Given the description of an element on the screen output the (x, y) to click on. 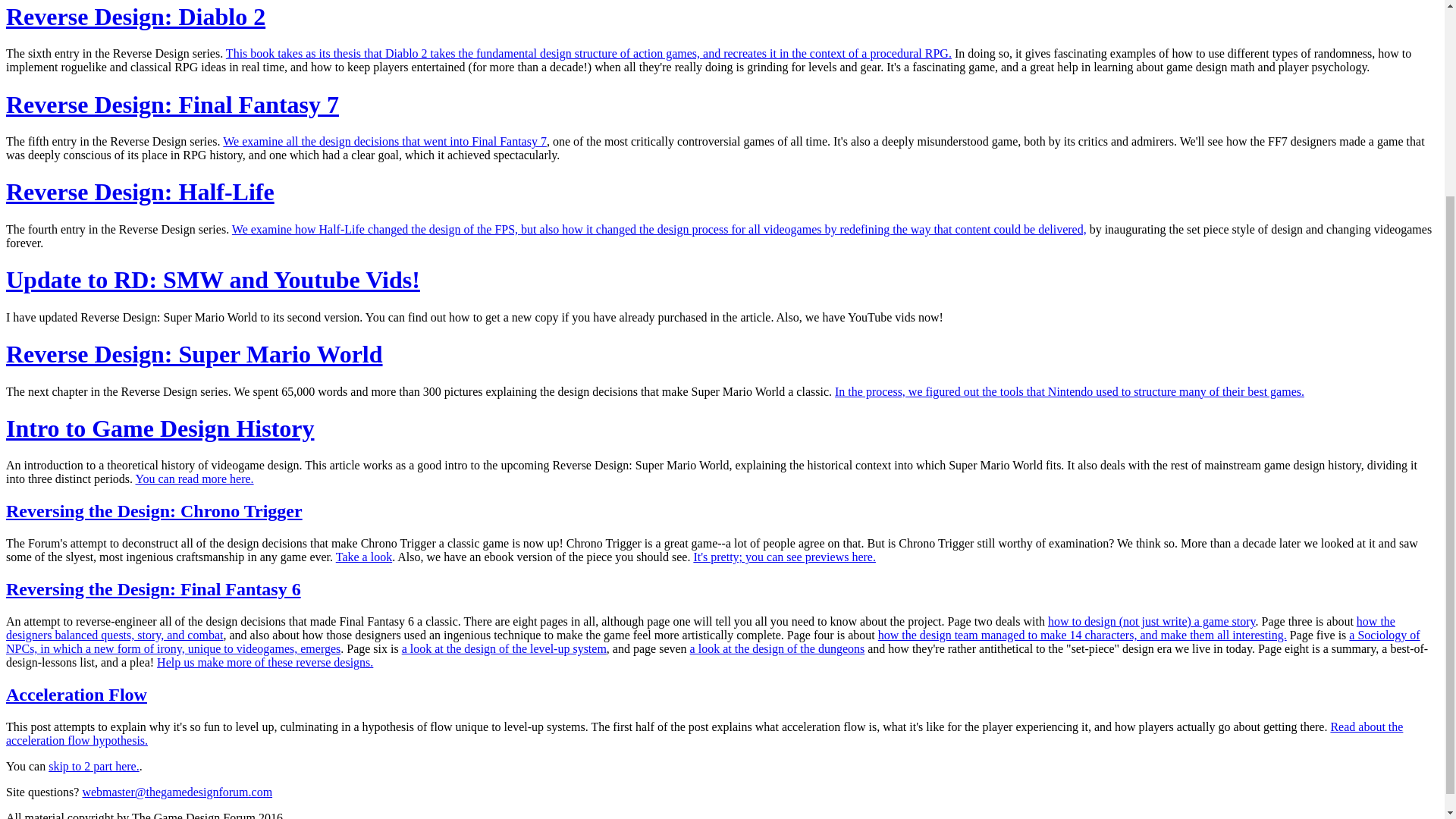
It's pretty; you can see previews here. (784, 556)
skip to 2 part here. (93, 766)
Reverse Design: Final Fantasy 7 (172, 103)
Reversing the Design: Final Fantasy 6 (153, 588)
Reversing the Design: Chrono Trigger (153, 510)
Reverse Design: Diablo 2 (134, 16)
a look at the design of the dungeons (777, 648)
Take a look (363, 556)
a look at the design of the level-up system (504, 648)
